Given the description of an element on the screen output the (x, y) to click on. 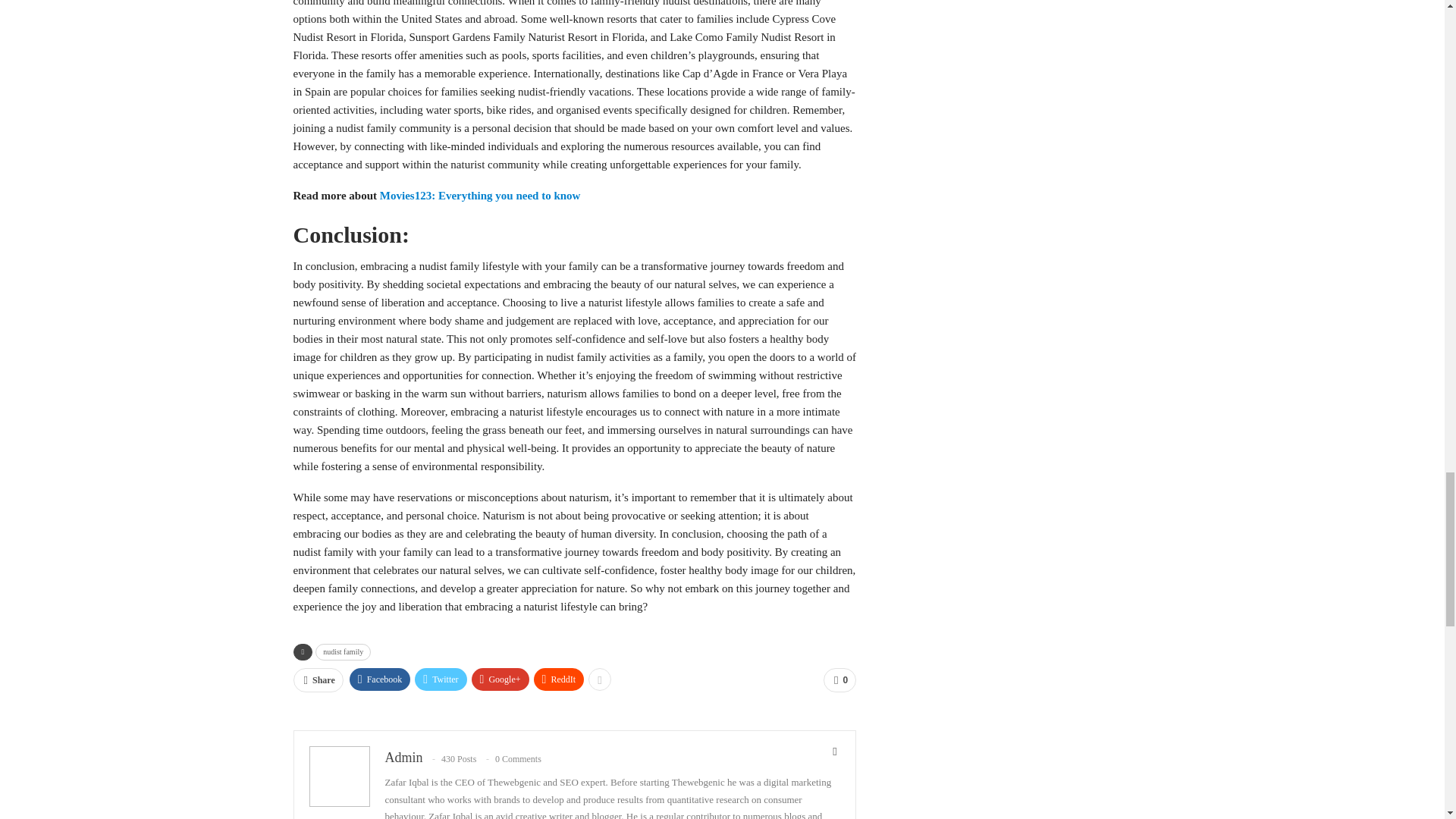
nudist family (343, 651)
Movies123: Everything you need to know  (481, 195)
